Given the description of an element on the screen output the (x, y) to click on. 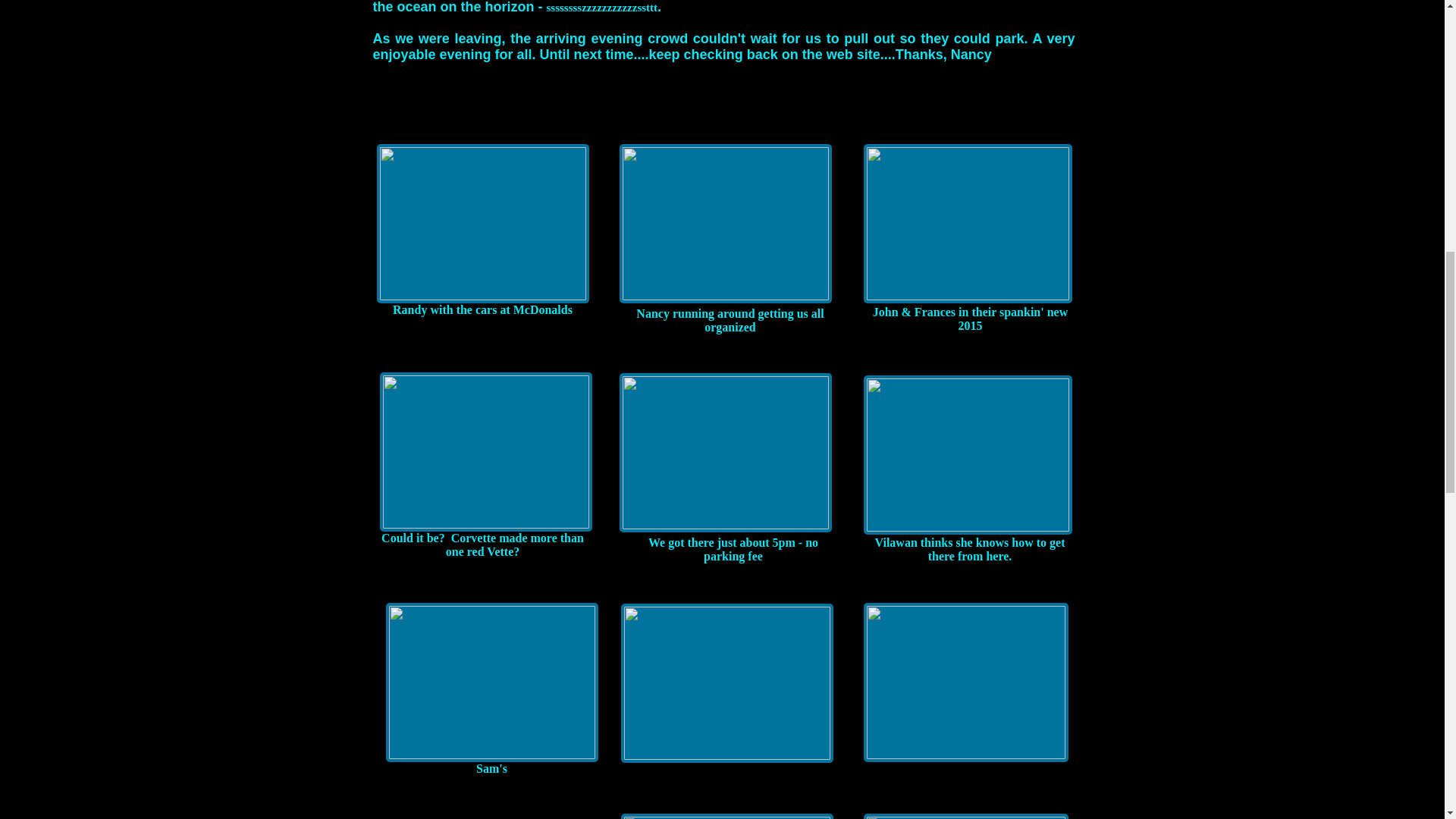
3-SAMS.JPG (724, 223)
7-SAMS.JPG (967, 454)
10-SAMS.JPG (965, 682)
5-SAMS.JPG (967, 223)
2-SAMS.JPG (481, 223)
8-Sam's.jpg (490, 682)
4-SAMS.JPG (484, 451)
11b-SAMS.JPG (965, 816)
6-Parking.JPG (724, 452)
